Given the description of an element on the screen output the (x, y) to click on. 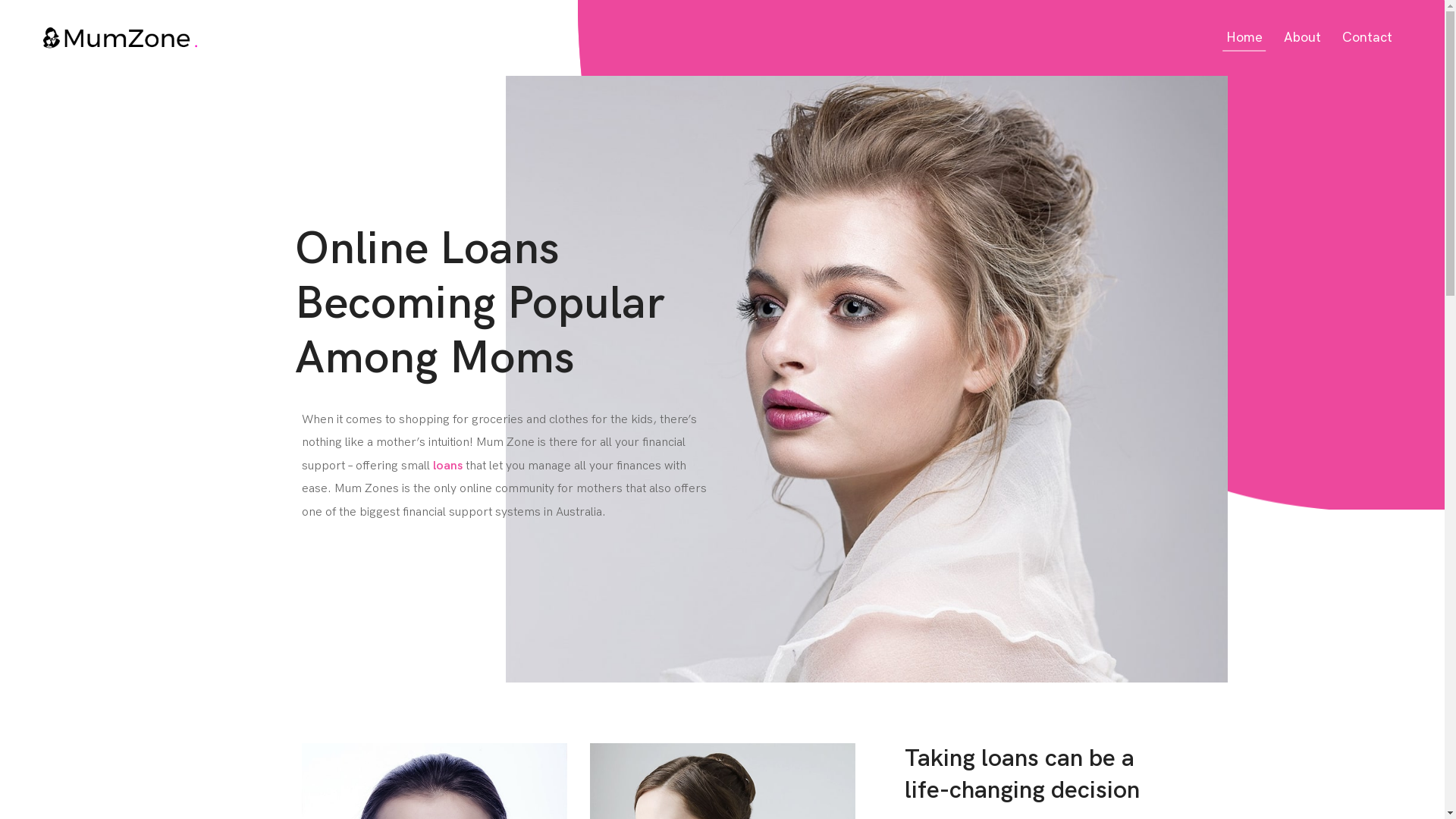
Home Element type: text (1244, 37)
loans Element type: text (446, 466)
About Element type: text (1302, 37)
Contact Element type: text (1367, 37)
